Given the description of an element on the screen output the (x, y) to click on. 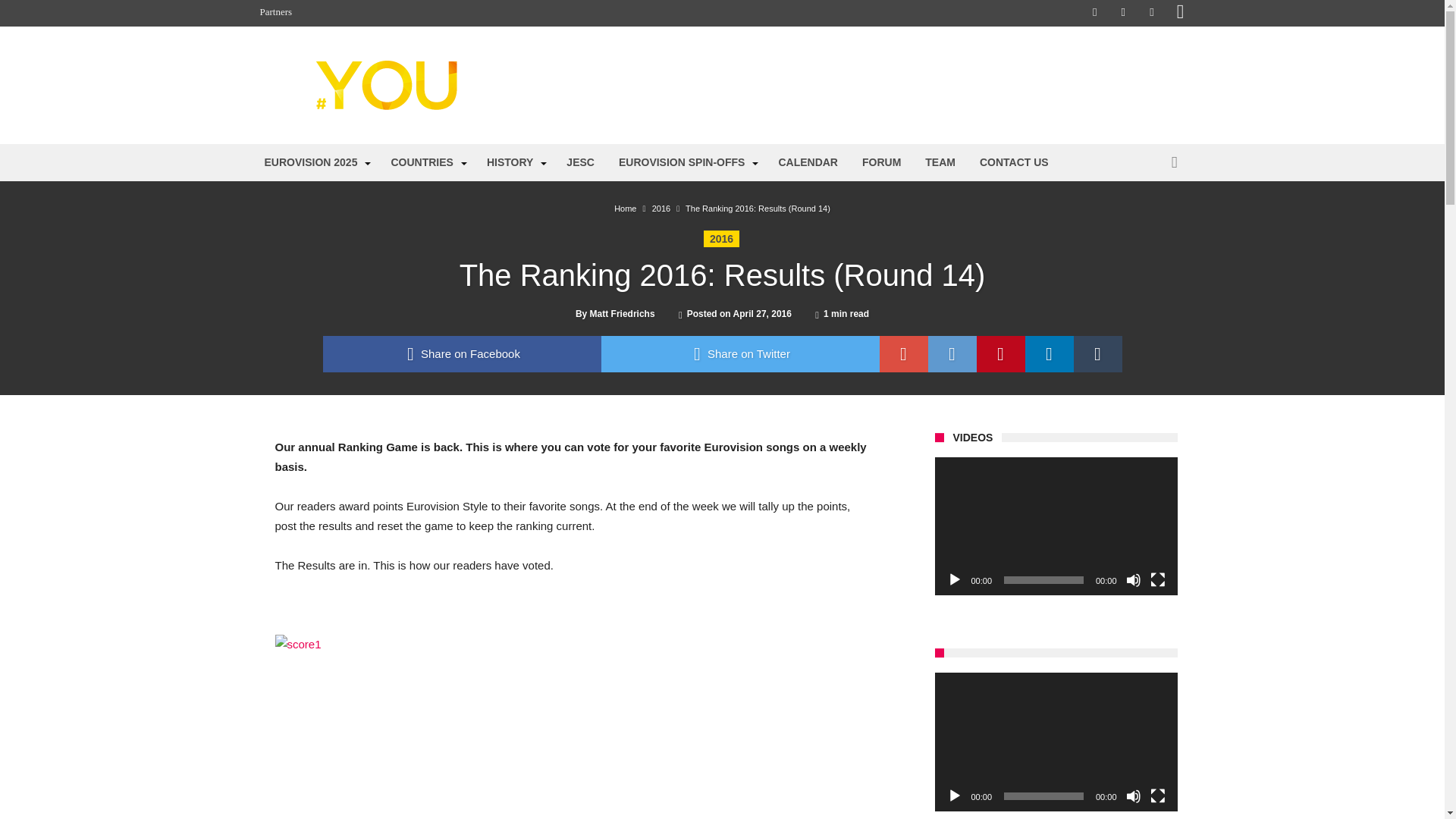
google (903, 353)
Facebook (1094, 13)
Twitter (1122, 13)
Youtube (1151, 13)
instagram (1179, 13)
escYOUnited (405, 59)
twitter (739, 353)
facebook (462, 353)
